Given the description of an element on the screen output the (x, y) to click on. 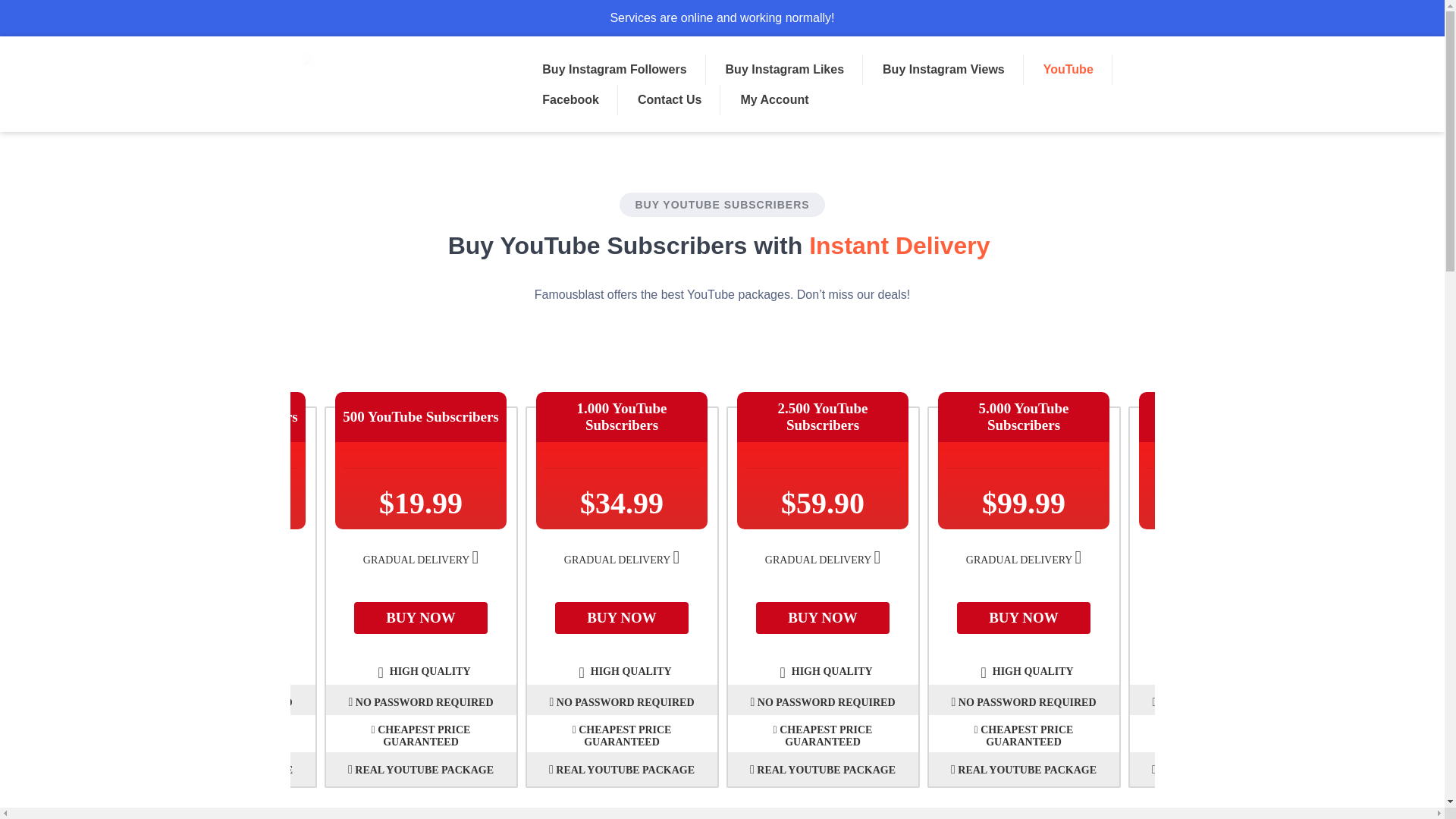
YouTube (1068, 69)
Contact Us (669, 100)
Buy Instagram Followers (613, 69)
FamousBlast - Buy Instagram followers, Likes and Views (396, 84)
My Account (773, 100)
Buy Instagram Likes (784, 69)
BUY NOW (822, 617)
BUY NOW (621, 617)
Facebook (569, 100)
BUY NOW (420, 617)
Buy Instagram Views (943, 69)
BUY NOW (1023, 617)
